Given the description of an element on the screen output the (x, y) to click on. 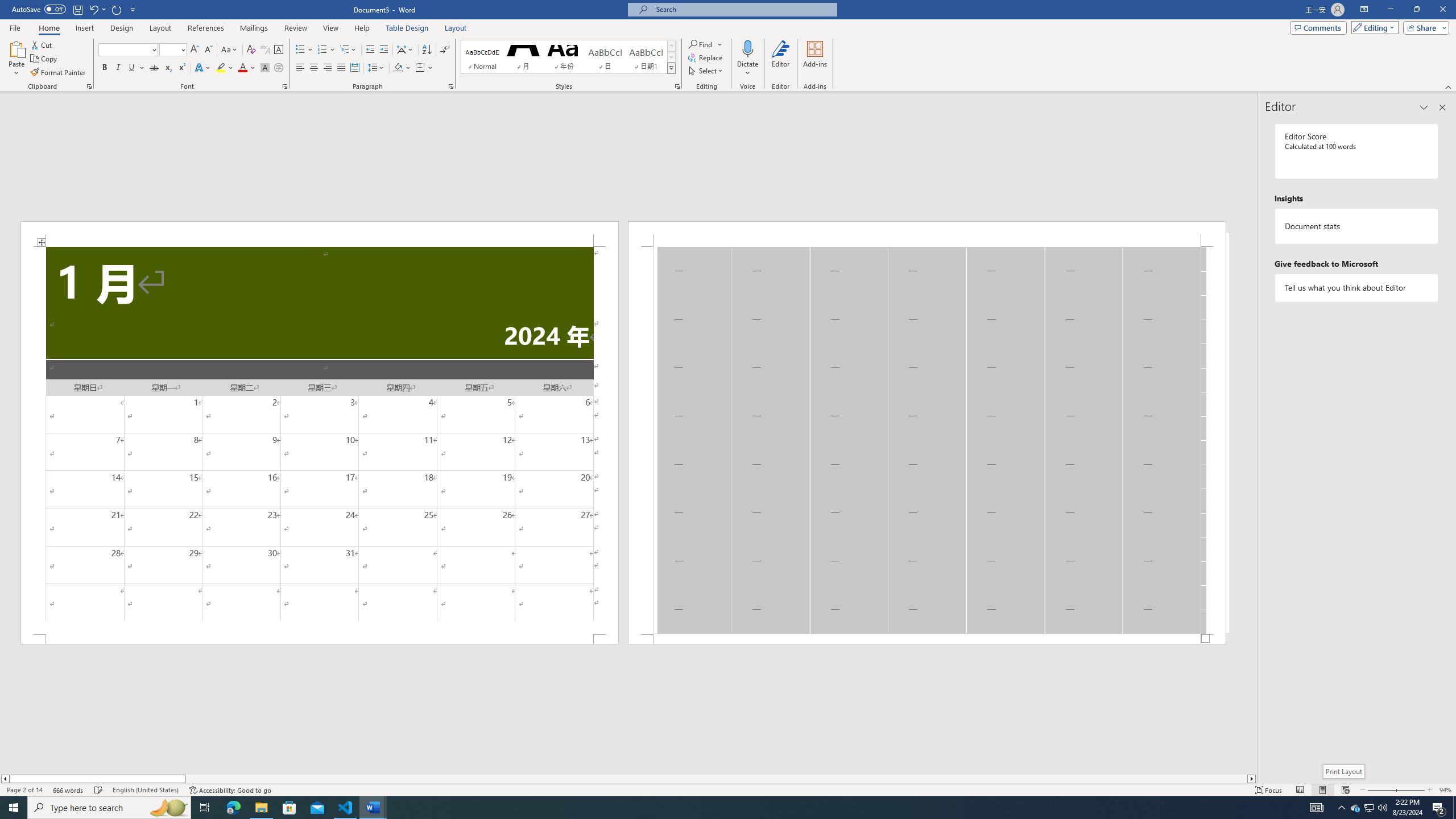
Styles... (676, 85)
Enclose Characters... (278, 67)
Shading RGB(0, 0, 0) (397, 67)
Styles (670, 67)
Increase Indent (383, 49)
Cut (42, 44)
